Given the description of an element on the screen output the (x, y) to click on. 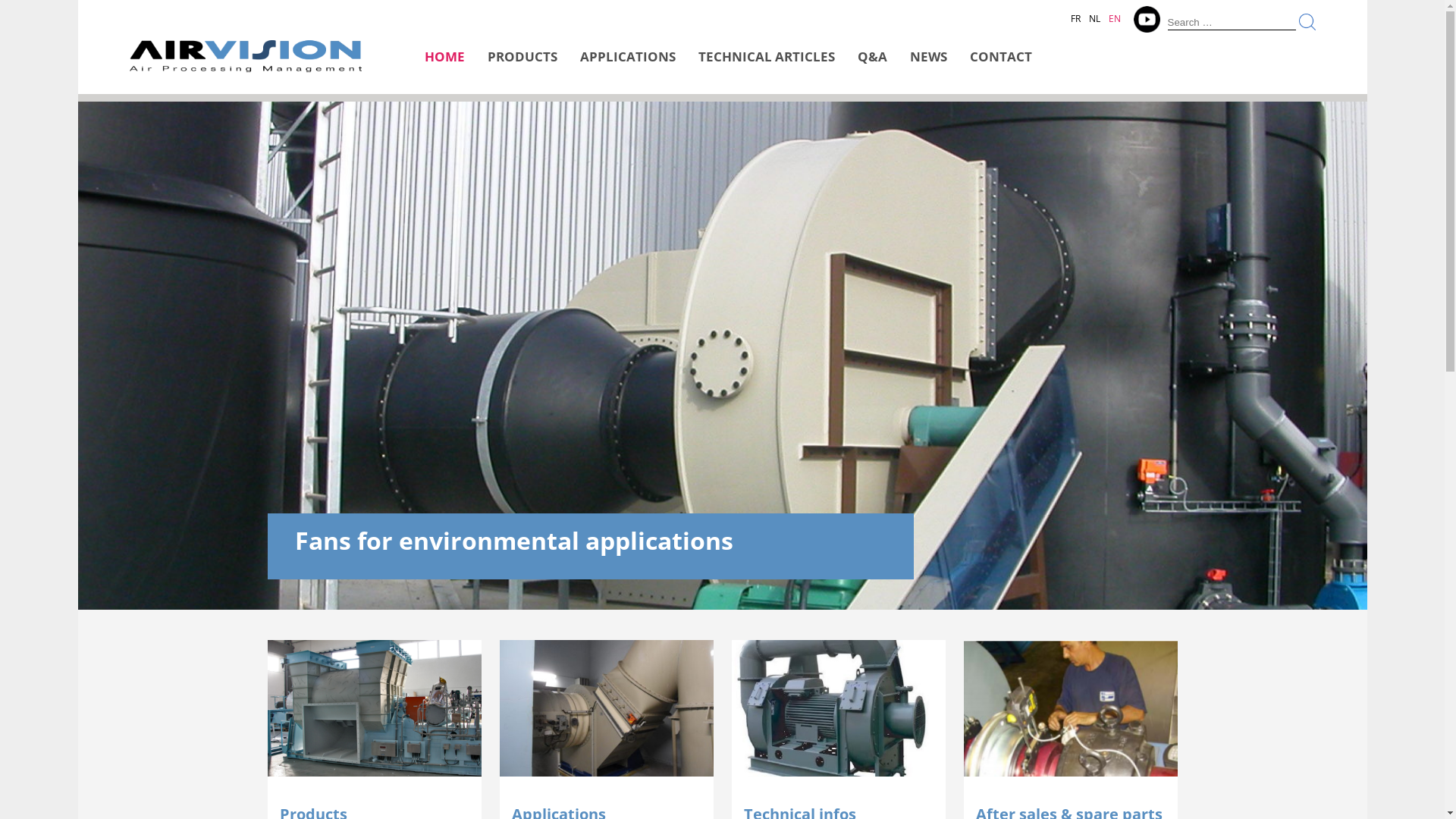
TECHNICAL ARTICLES Element type: text (766, 65)
HOME Element type: text (443, 65)
APPLICATIONS Element type: text (627, 65)
Q&A Element type: text (872, 65)
PRODUCTS Element type: text (522, 65)
YouTube Element type: hover (1145, 19)
EN Element type: text (1114, 17)
NL Element type: text (1094, 17)
CONTACT Element type: text (1000, 65)
NEWS Element type: text (927, 65)
FR Element type: text (1075, 17)
